Given the description of an element on the screen output the (x, y) to click on. 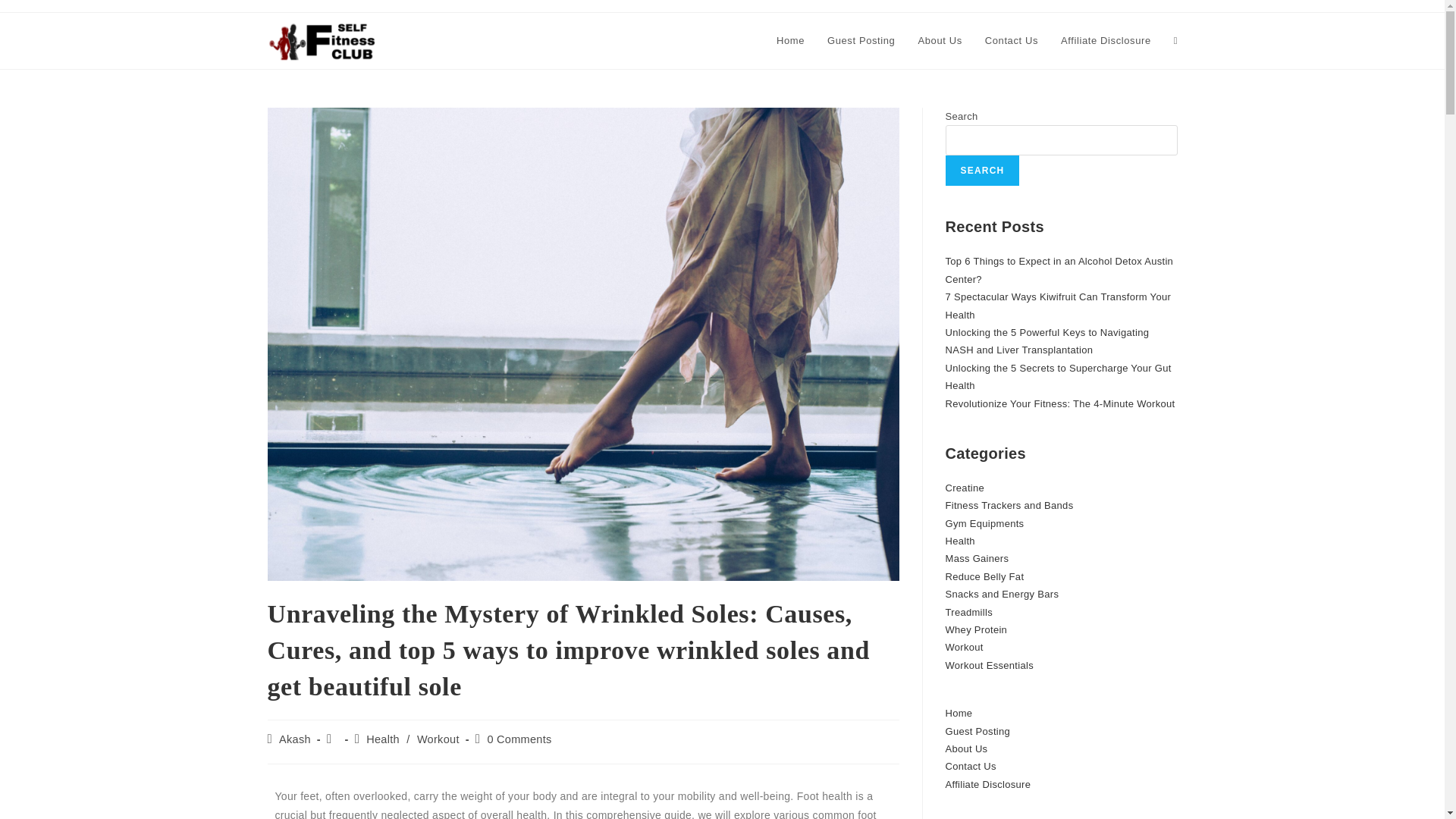
0 Comments (518, 739)
Affiliate Disclosure (1105, 40)
Unlocking the 5 Secrets to Supercharge Your Gut Health (1057, 376)
Gym Equipments (983, 523)
Health (382, 739)
Posts by Akash (295, 739)
SEARCH (981, 170)
Mass Gainers (976, 558)
Home (790, 40)
Contact Us (1011, 40)
